Given the description of an element on the screen output the (x, y) to click on. 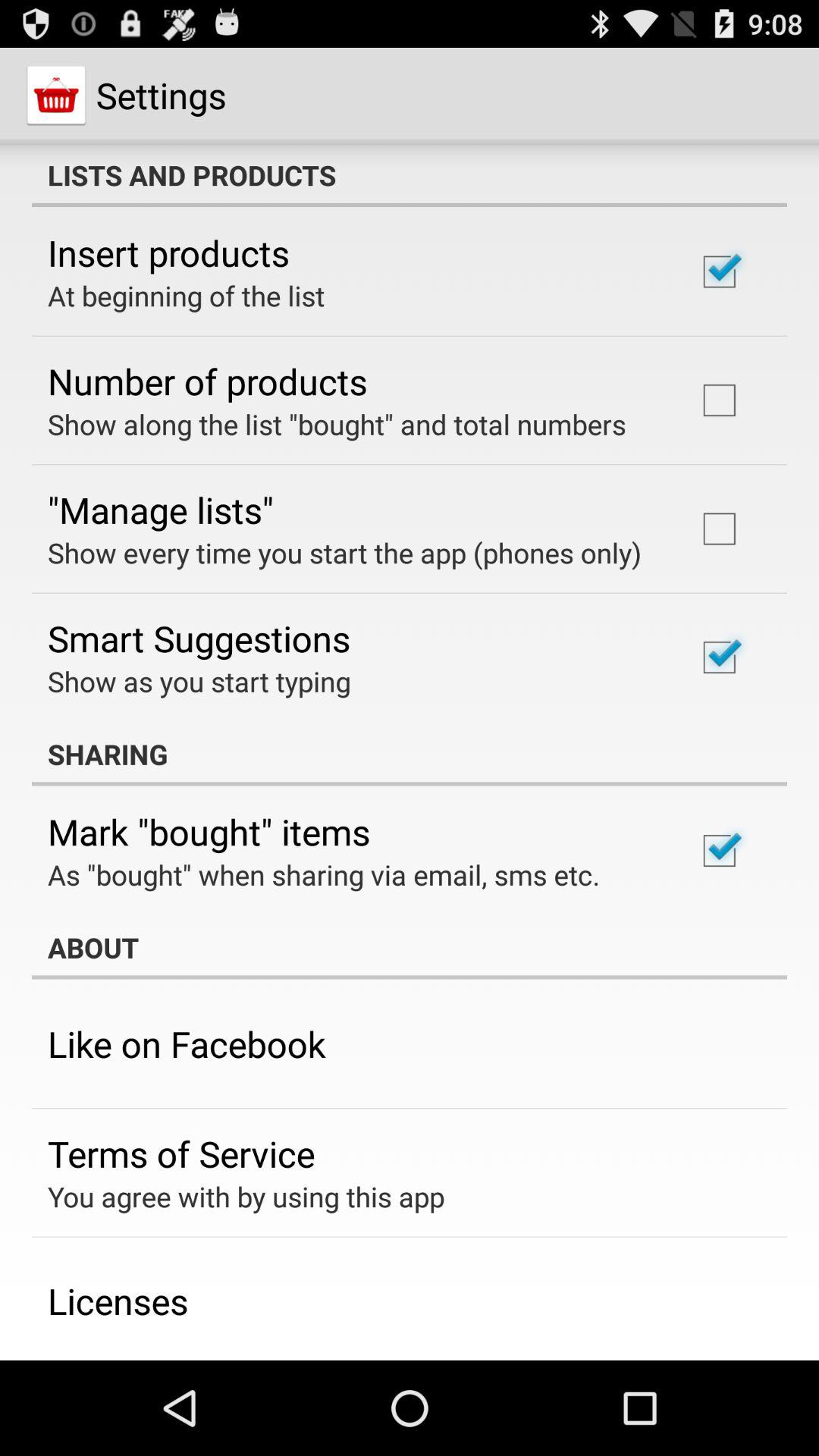
choose the mark "bought" items (208, 831)
